Given the description of an element on the screen output the (x, y) to click on. 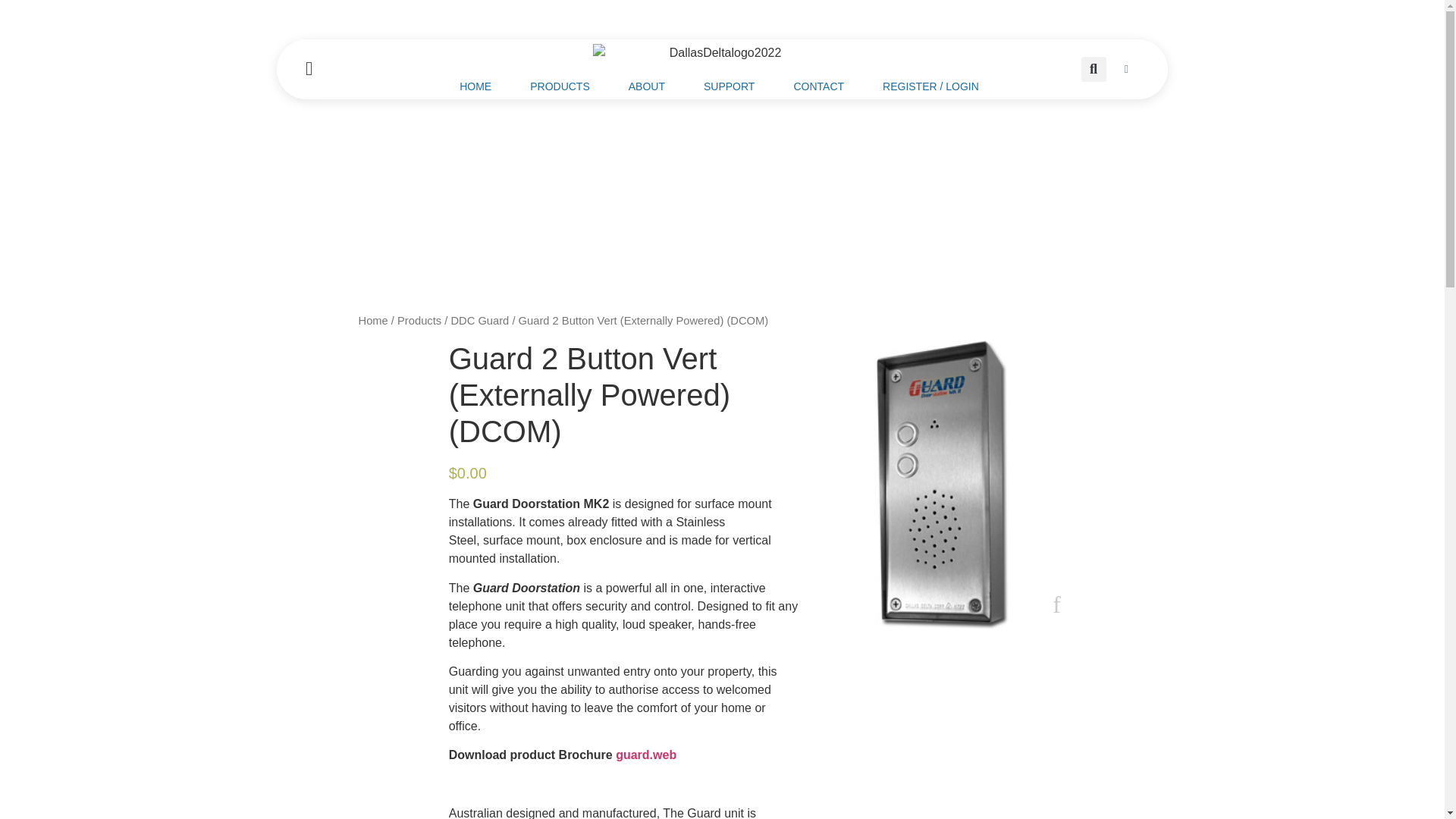
ABOUT (645, 85)
Products (419, 320)
PRODUCTS (560, 85)
DDC Guard (478, 320)
guard-2-right (941, 484)
Home (372, 320)
guard.web (646, 754)
Page 1 (622, 811)
DallasDeltalogo2022 (718, 53)
HOME (475, 85)
CONTACT (818, 85)
SUPPORT (729, 85)
